Given the description of an element on the screen output the (x, y) to click on. 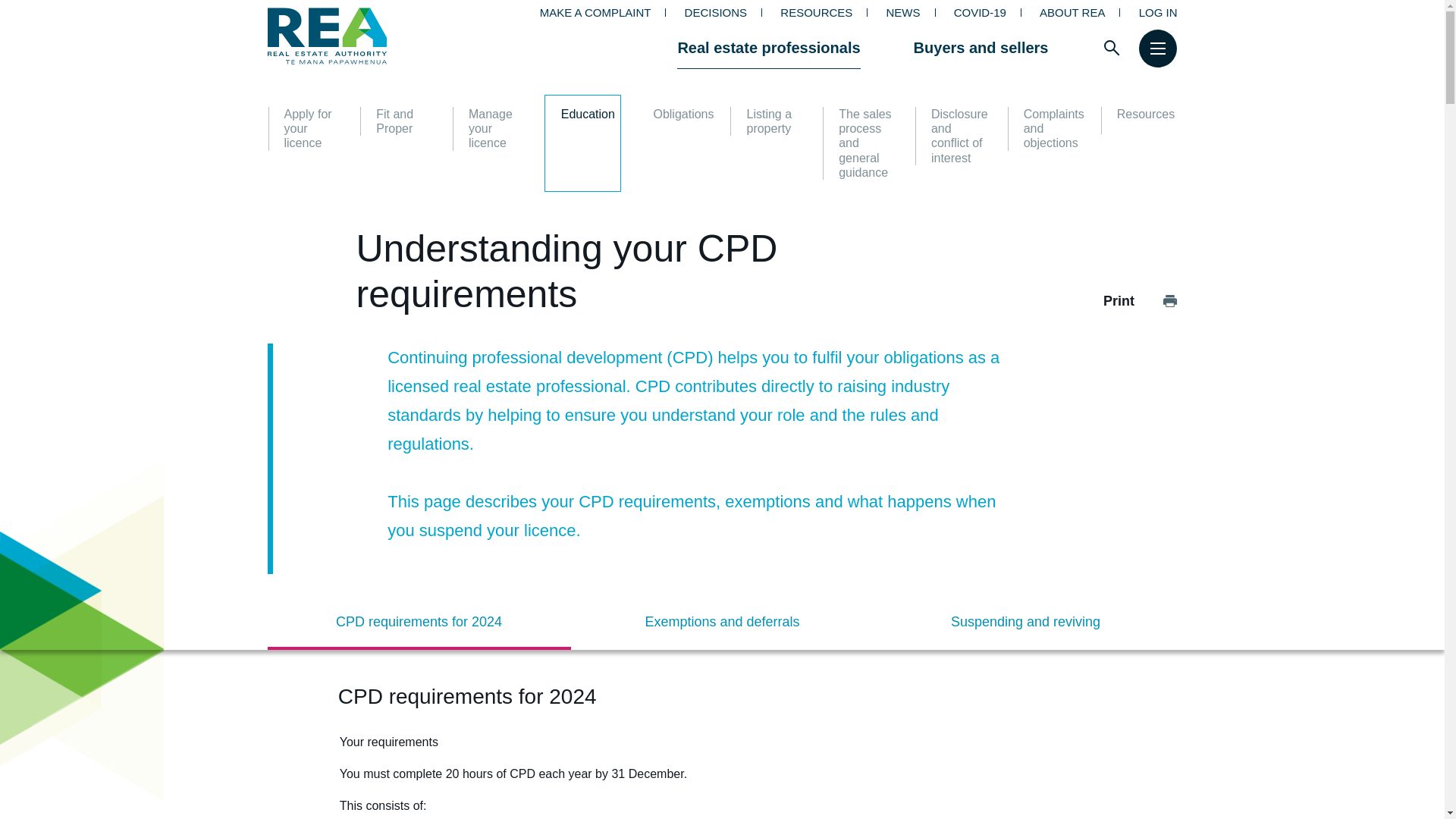
ABOUT REA (1072, 11)
LOG IN (1157, 11)
Open menu (1157, 47)
MAKE A COMPLAINT (595, 11)
DECISIONS (716, 11)
Real estate professionals (768, 47)
The Real Estate Authority (361, 35)
Buyers and sellers (981, 47)
COVID-19 (979, 11)
NEWS (902, 11)
Open search (1112, 47)
RESOURCES (815, 11)
